Given the description of an element on the screen output the (x, y) to click on. 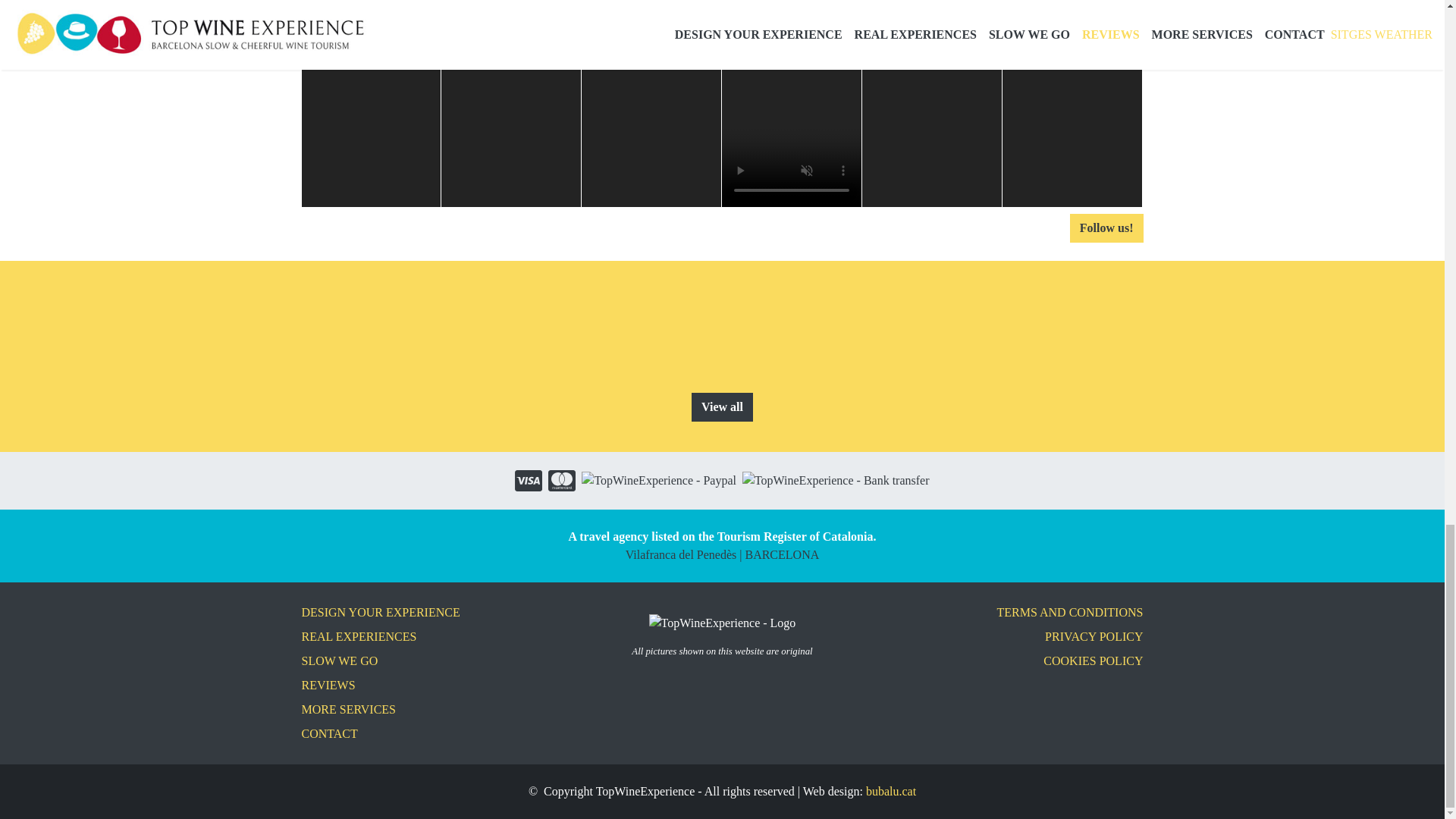
Visa (528, 480)
Bank transfer (836, 480)
Mastercard (561, 480)
Paypal (658, 480)
